Given the description of an element on the screen output the (x, y) to click on. 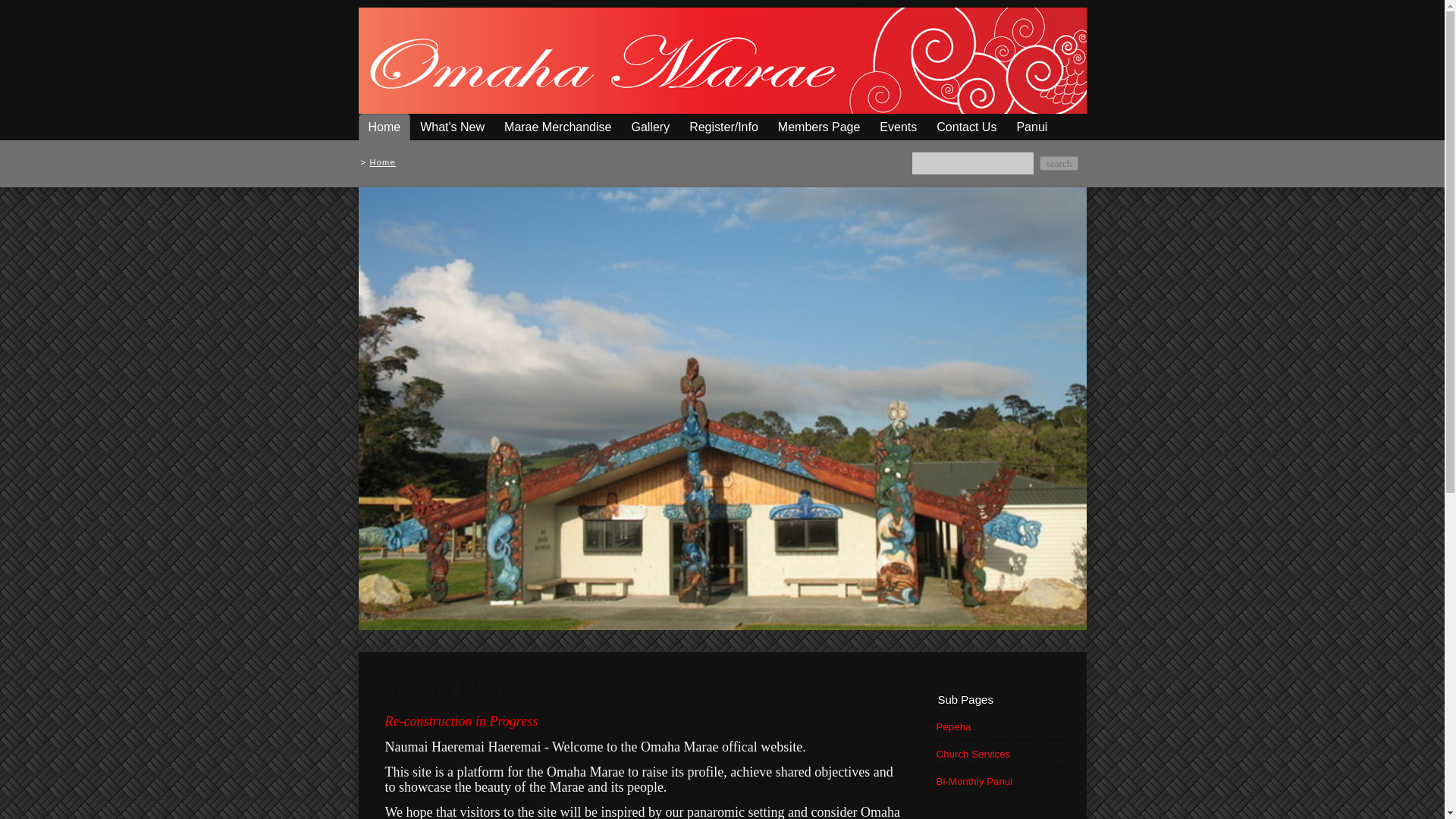
Members Page (818, 127)
Bi-Monthly Panui (1000, 781)
Gallery (649, 127)
Marae Merchandise (557, 127)
Events (898, 127)
Church Services (1000, 754)
Pepeha (1000, 726)
What's New (451, 127)
Home (382, 162)
